Given the description of an element on the screen output the (x, y) to click on. 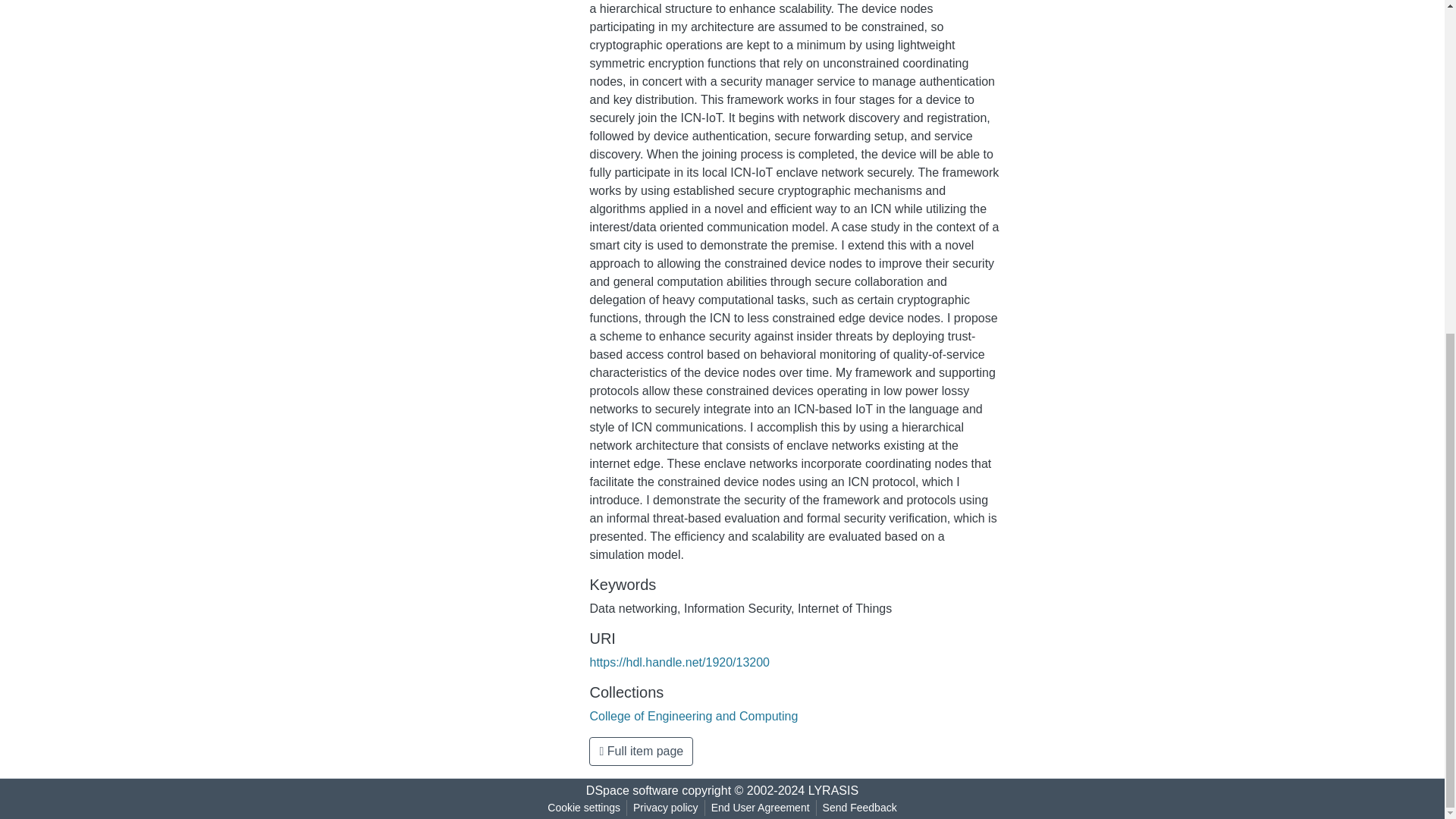
LYRASIS (833, 789)
Privacy policy (665, 807)
Full item page (641, 751)
DSpace software (632, 789)
Send Feedback (859, 807)
Cookie settings (583, 807)
End User Agreement (759, 807)
College of Engineering and Computing (693, 716)
